Given the description of an element on the screen output the (x, y) to click on. 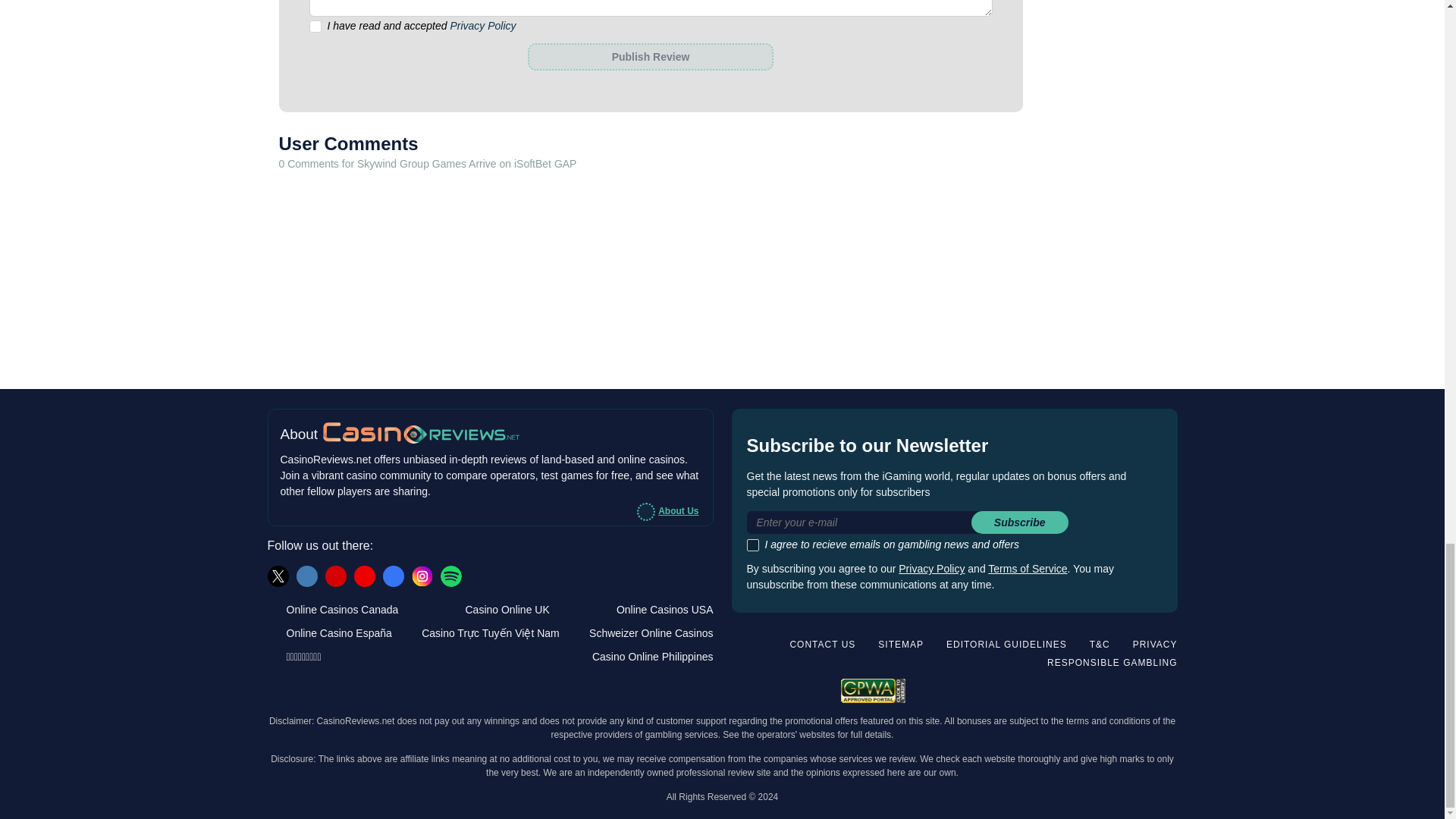
Publish Review (650, 56)
Subscribe (1019, 522)
DMCA.com Protection Status (1126, 688)
